Given the description of an element on the screen output the (x, y) to click on. 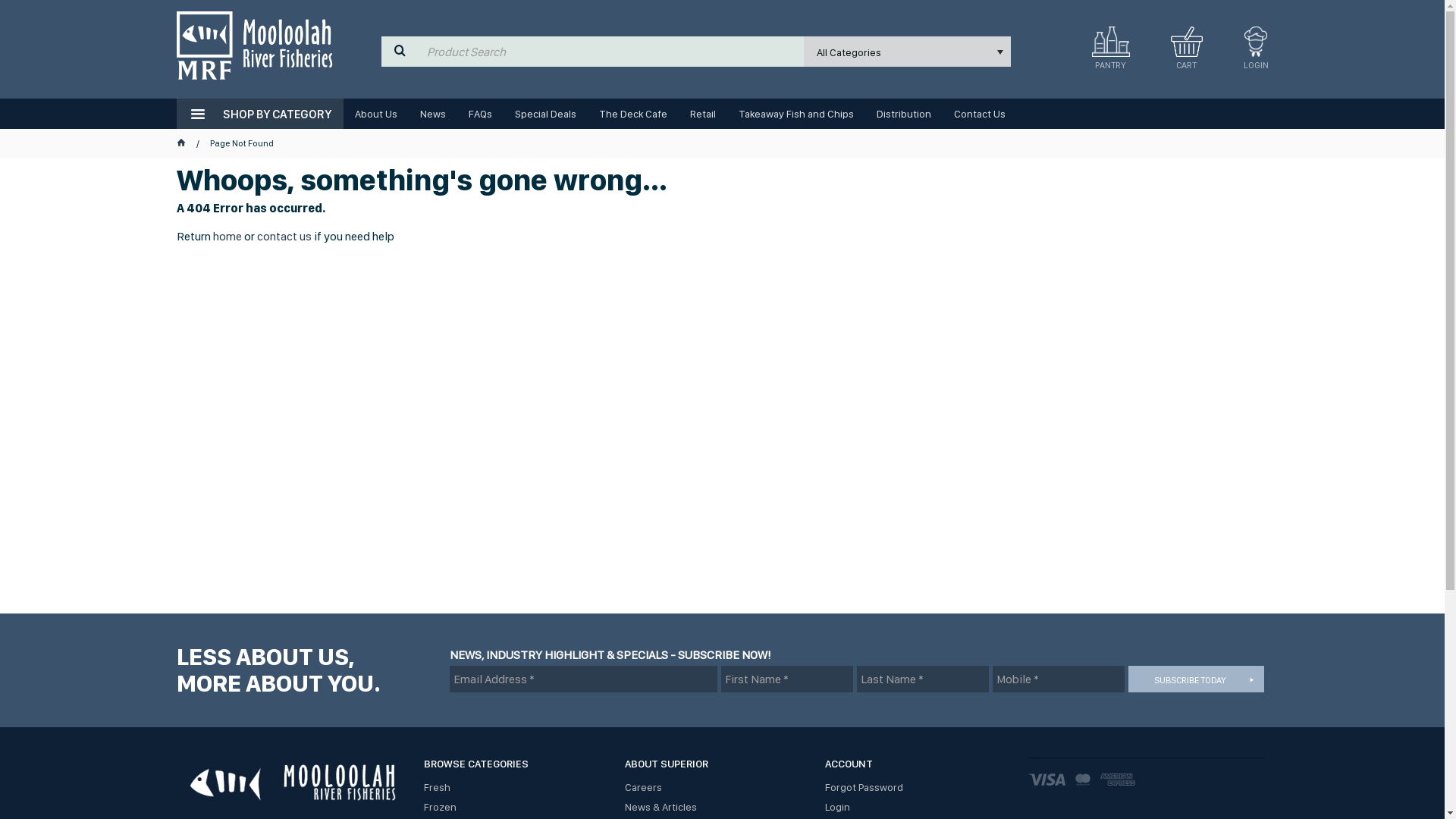
Takeaway Fish and Chips Element type: text (795, 113)
ABOUT SUPERIOR Element type: text (716, 767)
News Element type: text (431, 113)
Careers Element type: text (716, 787)
CART Element type: text (1186, 52)
Distribution Element type: text (902, 113)
contact us Element type: text (283, 236)
Login Element type: text (917, 806)
FAQs Element type: text (479, 113)
home Element type: text (226, 236)
News & Articles Element type: text (716, 806)
PANTRY Element type: text (1110, 41)
About Us Element type: text (374, 113)
Special Deals Element type: text (545, 113)
The Deck Cafe Element type: text (631, 113)
Forgot Password Element type: text (917, 787)
Contact Us Element type: text (978, 113)
Retail Element type: text (701, 113)
SUBSCRIBE TODAY Element type: text (1196, 678)
Fresh Element type: text (515, 787)
LOGIN Element type: text (1255, 52)
Frozen Element type: text (515, 806)
